Given the description of an element on the screen output the (x, y) to click on. 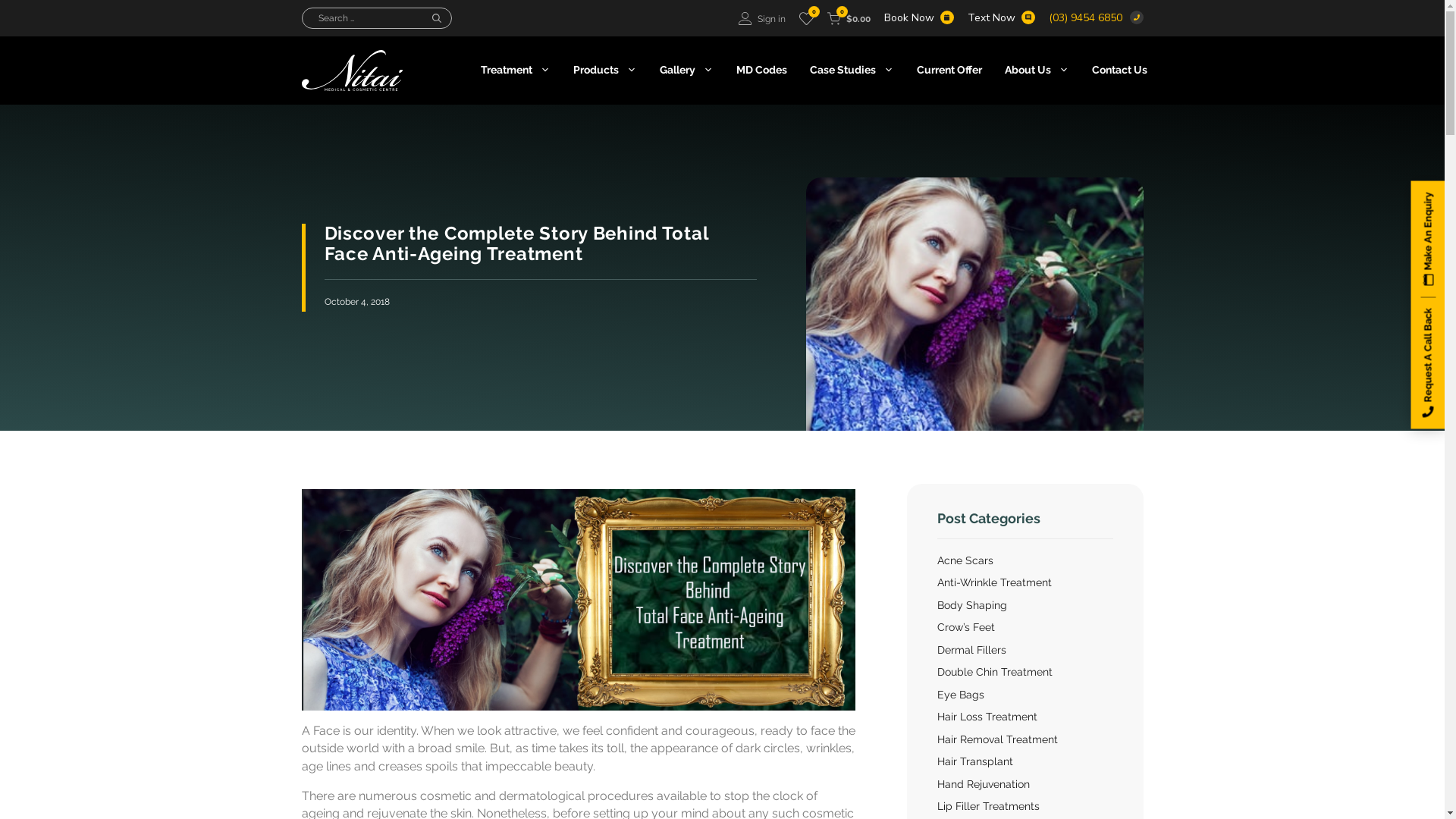
Treatment Element type: text (514, 70)
Hand Rejuvenation Element type: text (983, 784)
MD Codes Element type: text (761, 70)
Text Now Element type: text (1001, 17)
0 Element type: text (806, 18)
Book Now Element type: text (918, 17)
0
$0.00 Element type: text (847, 18)
Body Shaping Element type: text (972, 605)
Hair Transplant Element type: text (975, 761)
Hair Removal Treatment Element type: text (997, 739)
(03) 9454 6850 Element type: text (1095, 17)
Acne Scars Element type: text (965, 560)
Sign in Element type: text (761, 18)
Contact Us Element type: text (1118, 70)
Products Element type: text (604, 70)
About Us Element type: text (1036, 70)
Anti-Wrinkle Treatment Element type: text (994, 582)
Search for: Element type: hover (361, 18)
Lip Filler Treatments Element type: text (988, 806)
Gallery Element type: text (685, 70)
Eye Bags Element type: text (960, 694)
Hair Loss Treatment Element type: text (987, 716)
Double Chin Treatment Element type: text (994, 671)
Current Offer Element type: text (949, 70)
Dermal Fillers Element type: text (971, 649)
Submit Element type: text (860, 420)
Case Studies Element type: text (850, 70)
